Given the description of an element on the screen output the (x, y) to click on. 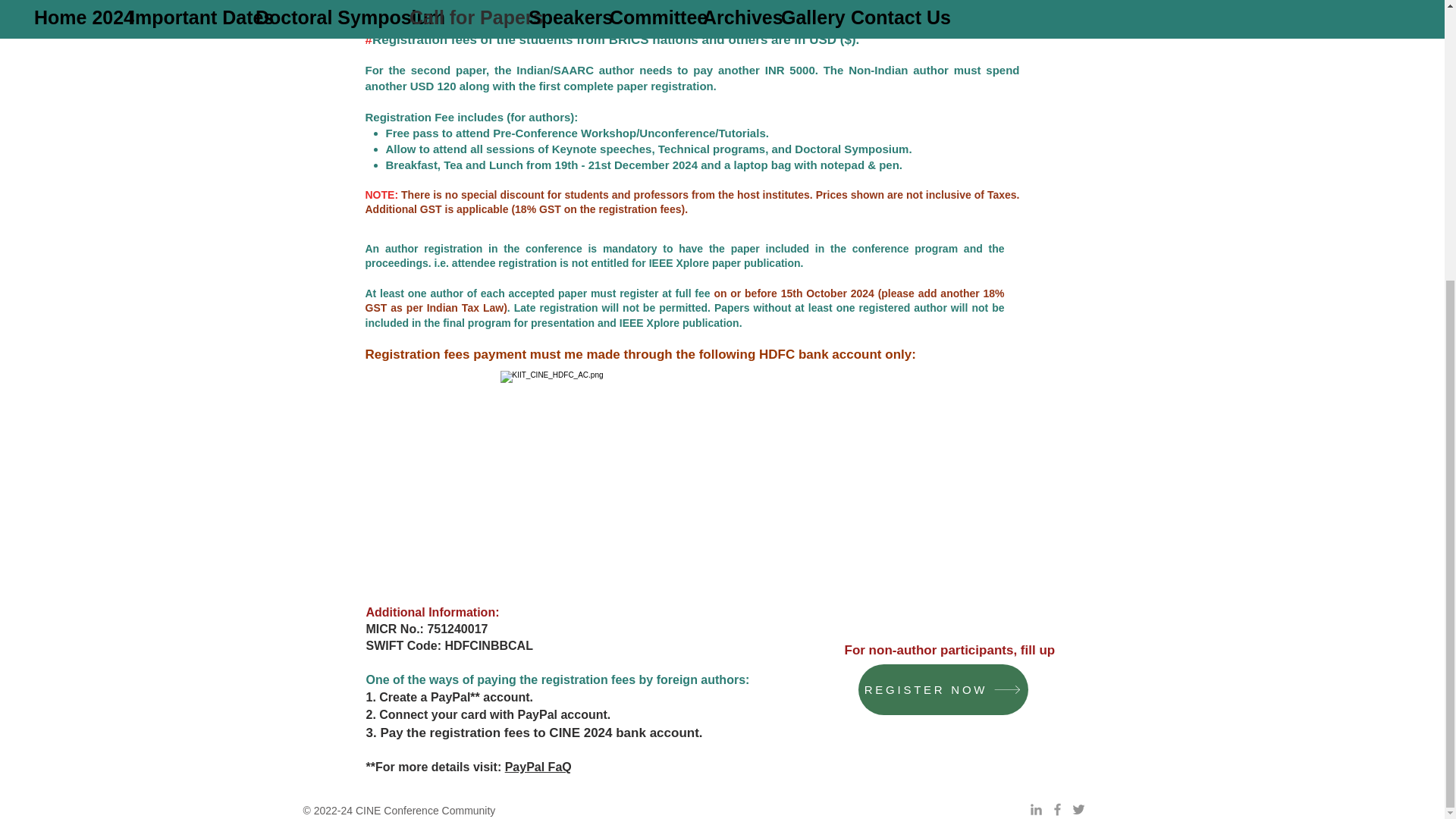
PayPal FaQ (538, 766)
REGISTER NOW (943, 689)
